Given the description of an element on the screen output the (x, y) to click on. 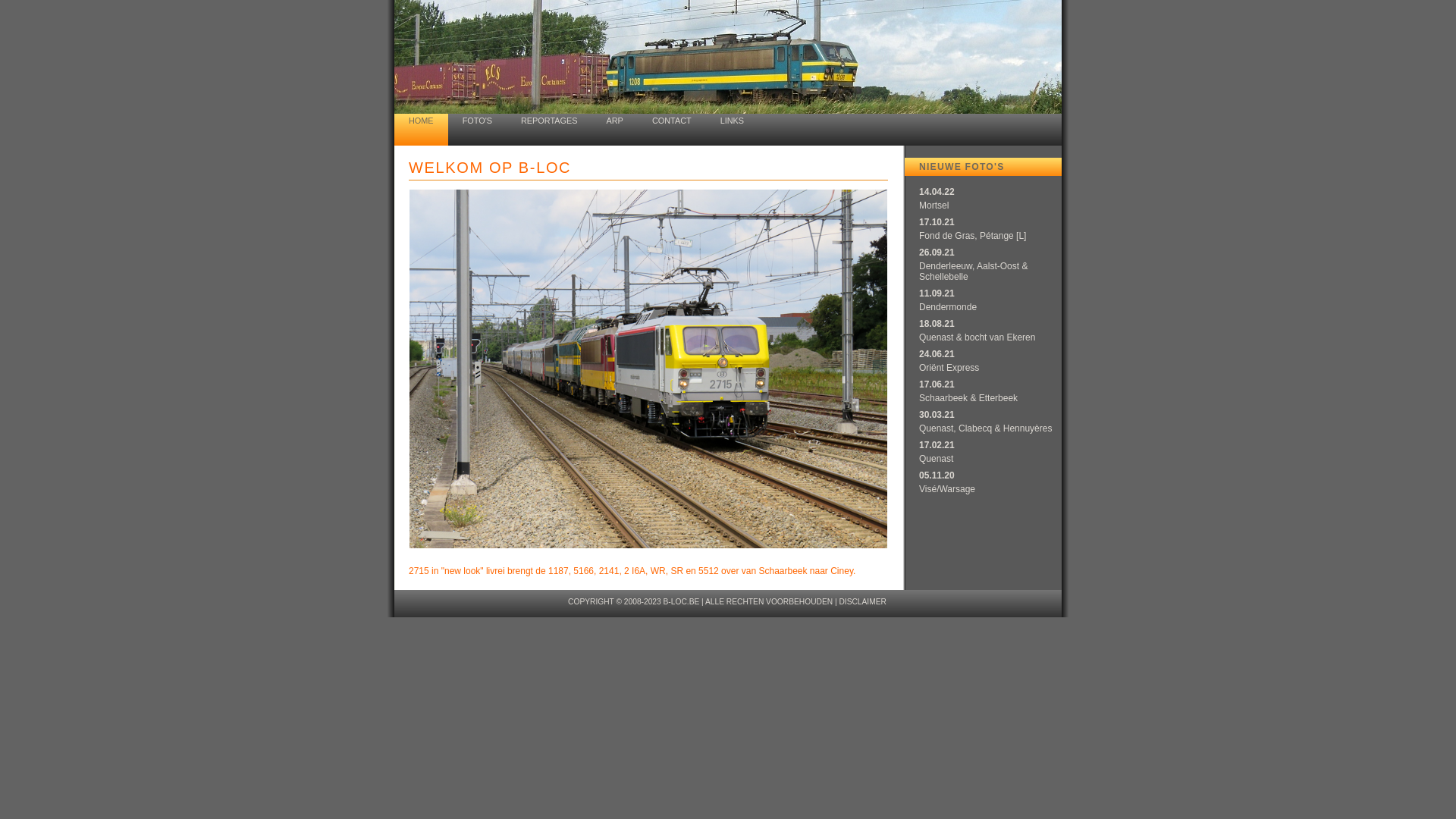
LINKS Element type: text (732, 129)
Denderleeuw, Aalst-Oost & Schellebelle Element type: text (973, 271)
Dendermonde Element type: text (947, 306)
Quenast & bocht van Ekeren Element type: text (977, 337)
CONTACT Element type: text (671, 129)
REPORTAGES Element type: text (549, 129)
Schaarbeek & Etterbeek Element type: text (968, 397)
FOTO'S Element type: text (477, 129)
DISCLAIMER Element type: text (861, 601)
ARP Element type: text (614, 129)
Quenast Element type: text (936, 458)
HOME Element type: text (421, 129)
Mortsel Element type: text (933, 205)
